Given the description of an element on the screen output the (x, y) to click on. 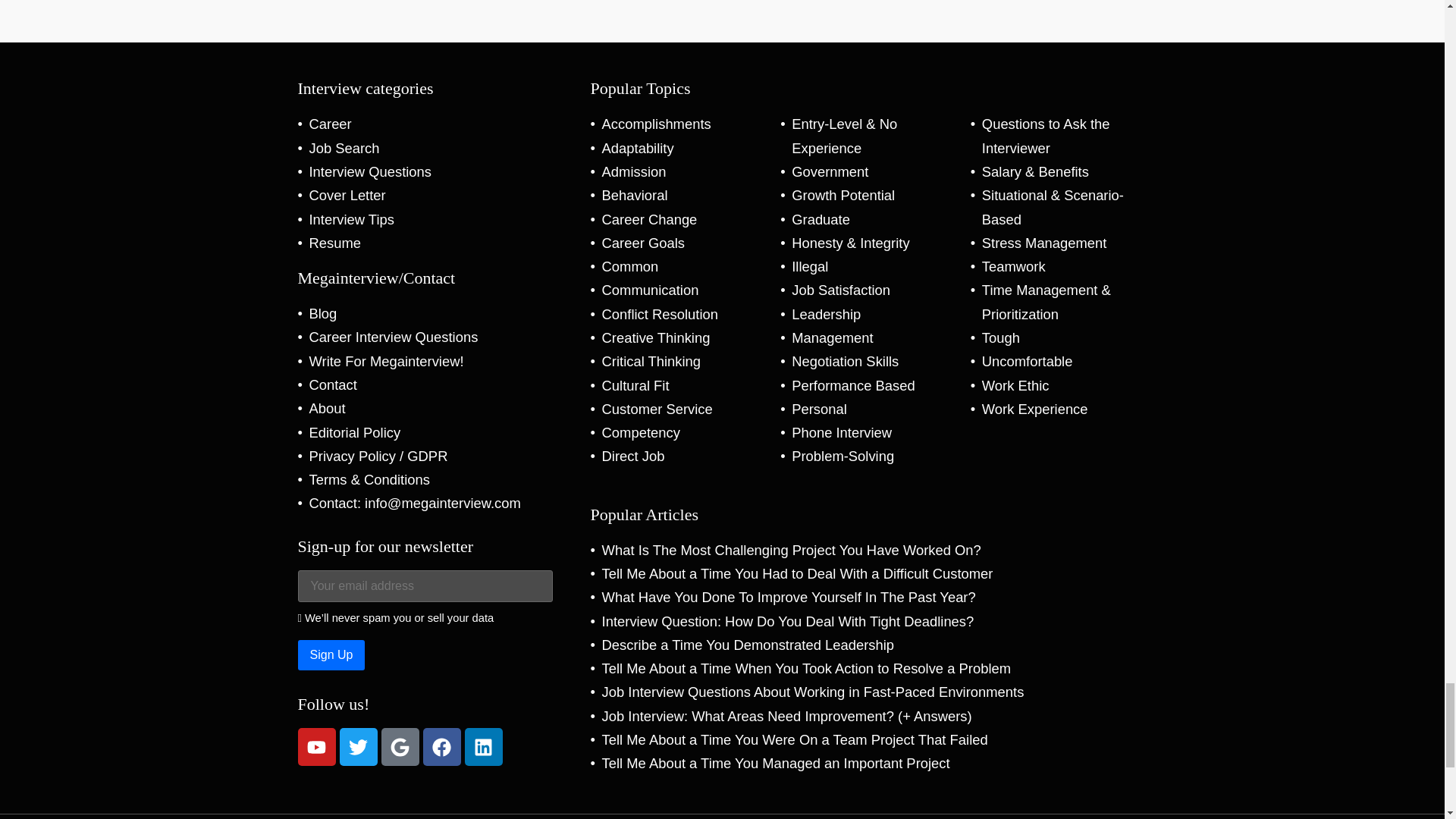
Sign Up (331, 654)
